Given the description of an element on the screen output the (x, y) to click on. 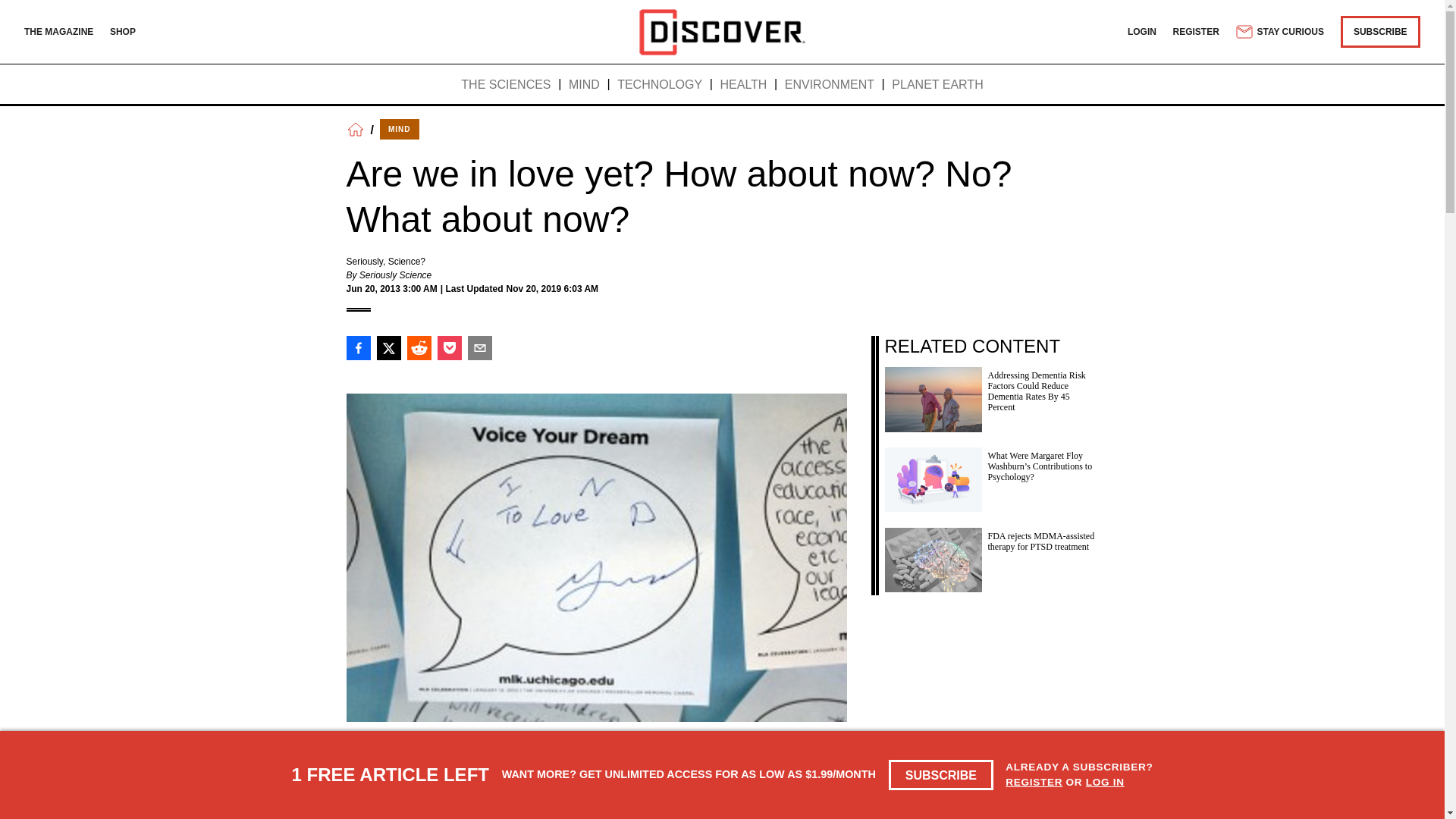
THE SCIENCES (505, 84)
Seriously Science (394, 275)
SHOP (122, 31)
SUBSCRIBE (1380, 31)
PLANET EARTH (936, 84)
FDA rejects MDMA-assisted therapy for PTSD treatment (990, 555)
TECHNOLOGY (659, 84)
REGISTER (1034, 781)
LOG IN (1105, 781)
SIGN UP (811, 788)
